Given the description of an element on the screen output the (x, y) to click on. 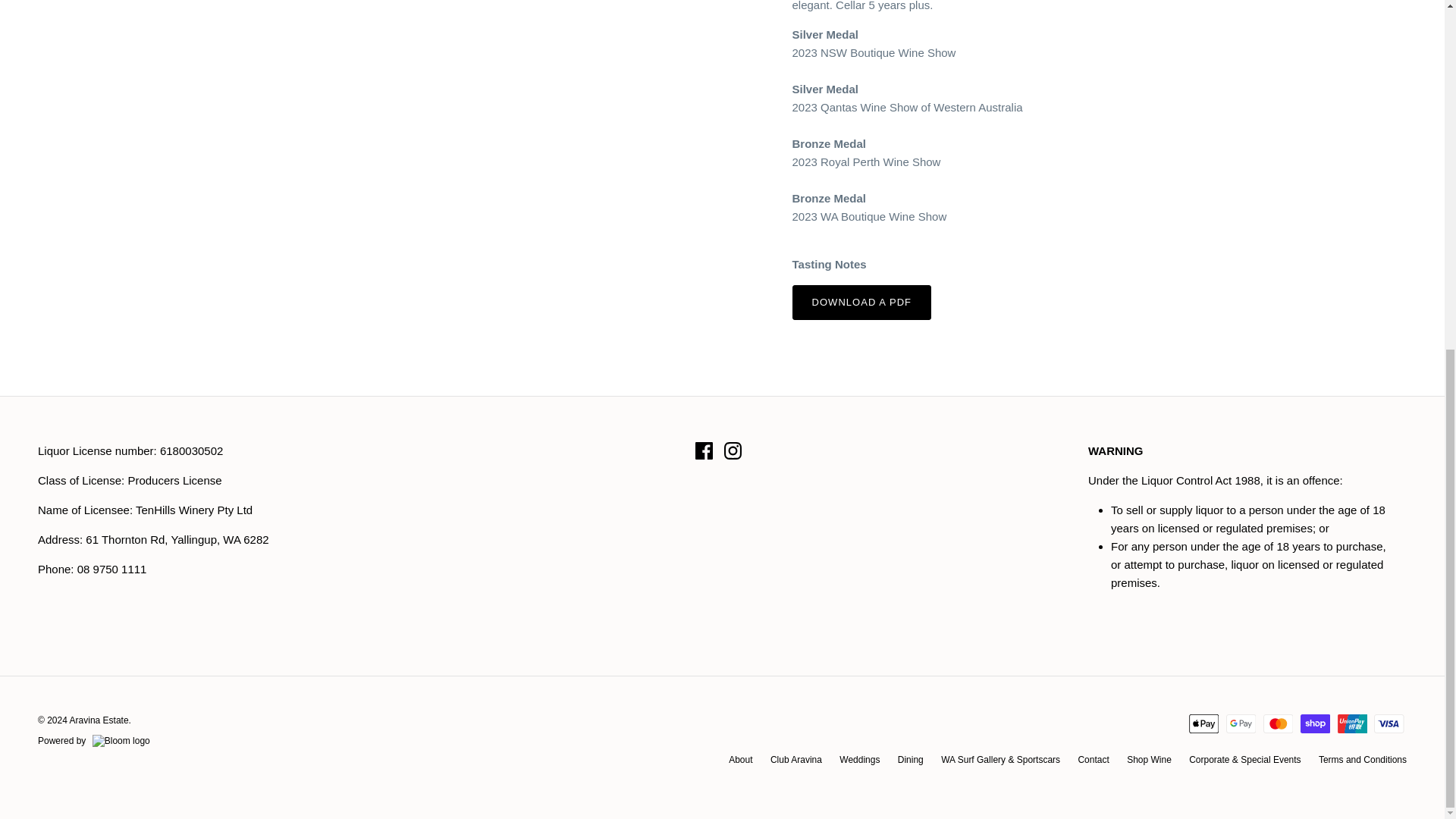
Shop Pay (1315, 723)
Instagram (732, 450)
Union Pay (1352, 723)
Mastercard (1277, 723)
Google Pay (1240, 723)
Visa (1388, 723)
Apple Pay (1203, 723)
Facebook (704, 450)
2022 A Collection Shiraz Tempranillo Tasting Notes (861, 302)
